Given the description of an element on the screen output the (x, y) to click on. 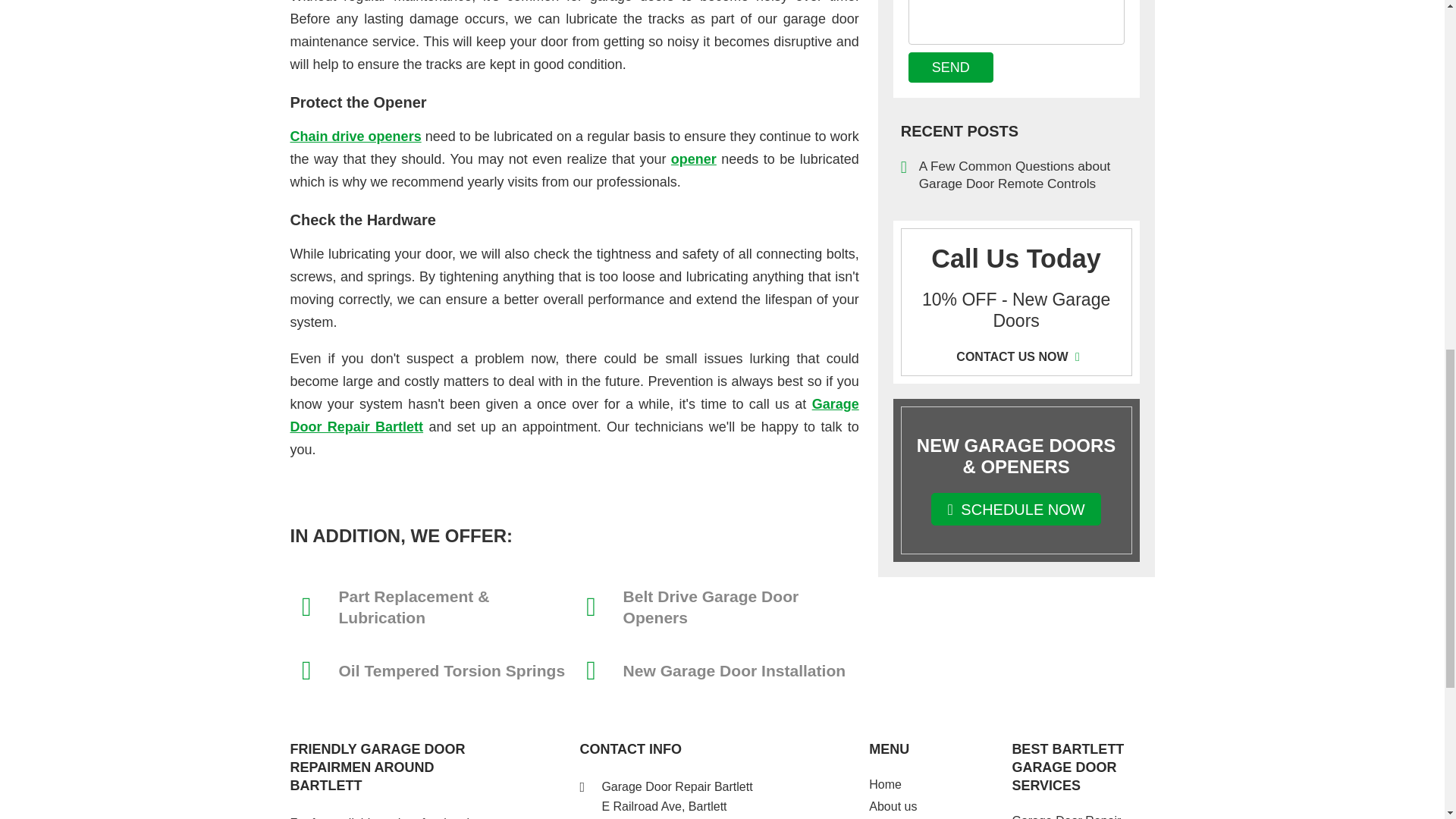
SCHEDULE NOW (1015, 509)
opener (693, 159)
SEND (950, 67)
Opener became noisy? (354, 136)
A Few Common Questions about Garage Door Remote Controls (1016, 174)
CONTACT US NOW (1015, 355)
Garage Door Repair Bartlett (574, 415)
Chain drive openers (354, 136)
Garage Door Repair Bartlett (574, 415)
SEND (950, 67)
Garage door opener (693, 159)
